Given the description of an element on the screen output the (x, y) to click on. 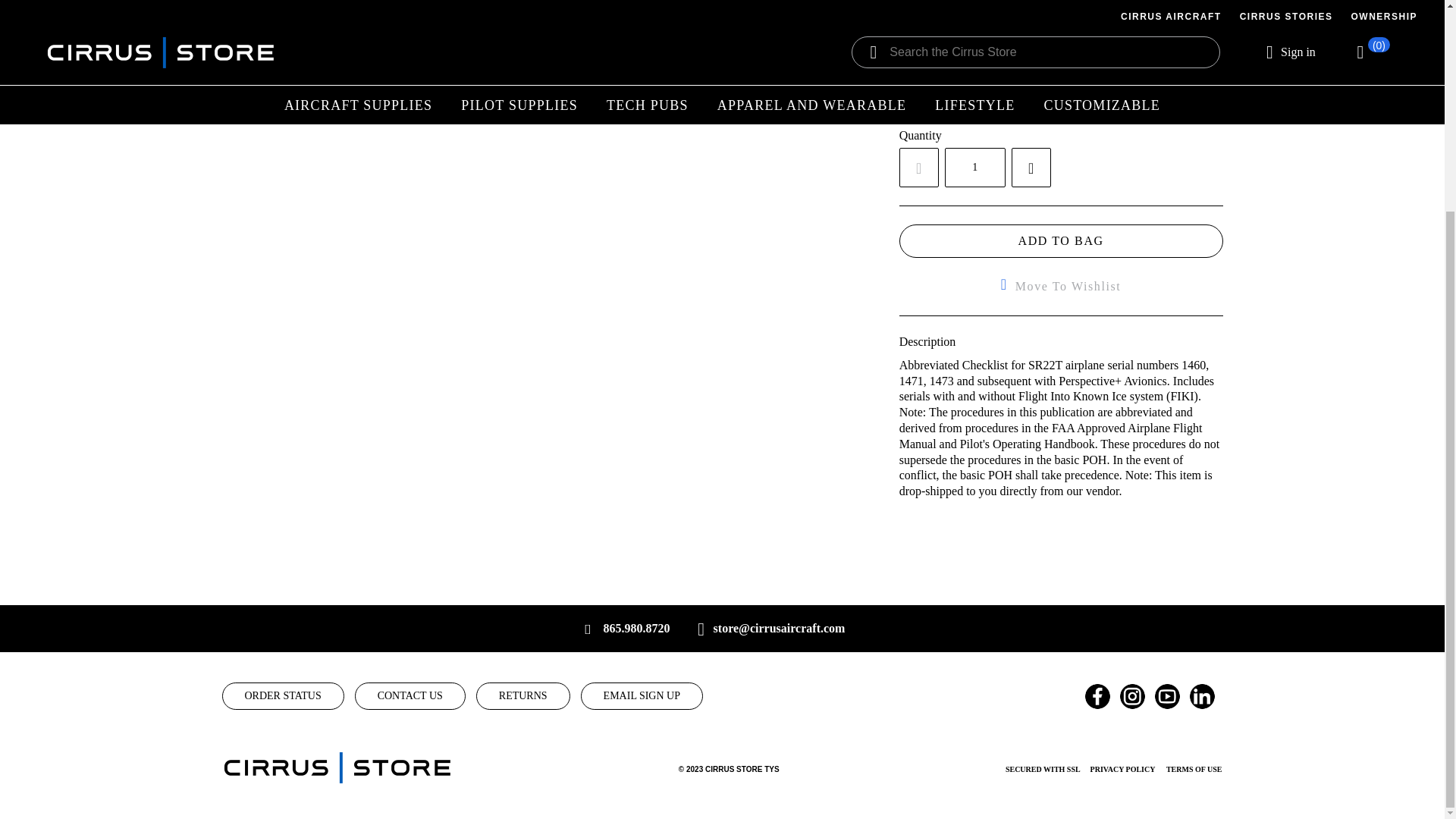
Increase quantity by 1 (1031, 167)
865.980.8720 (636, 628)
Contact Us (410, 696)
1 (975, 167)
ORDER STATUS (282, 696)
RETURNS (523, 696)
CONTACT US (410, 696)
ADD TO BAG (1061, 240)
Order Status (282, 696)
Returns (523, 696)
